Given the description of an element on the screen output the (x, y) to click on. 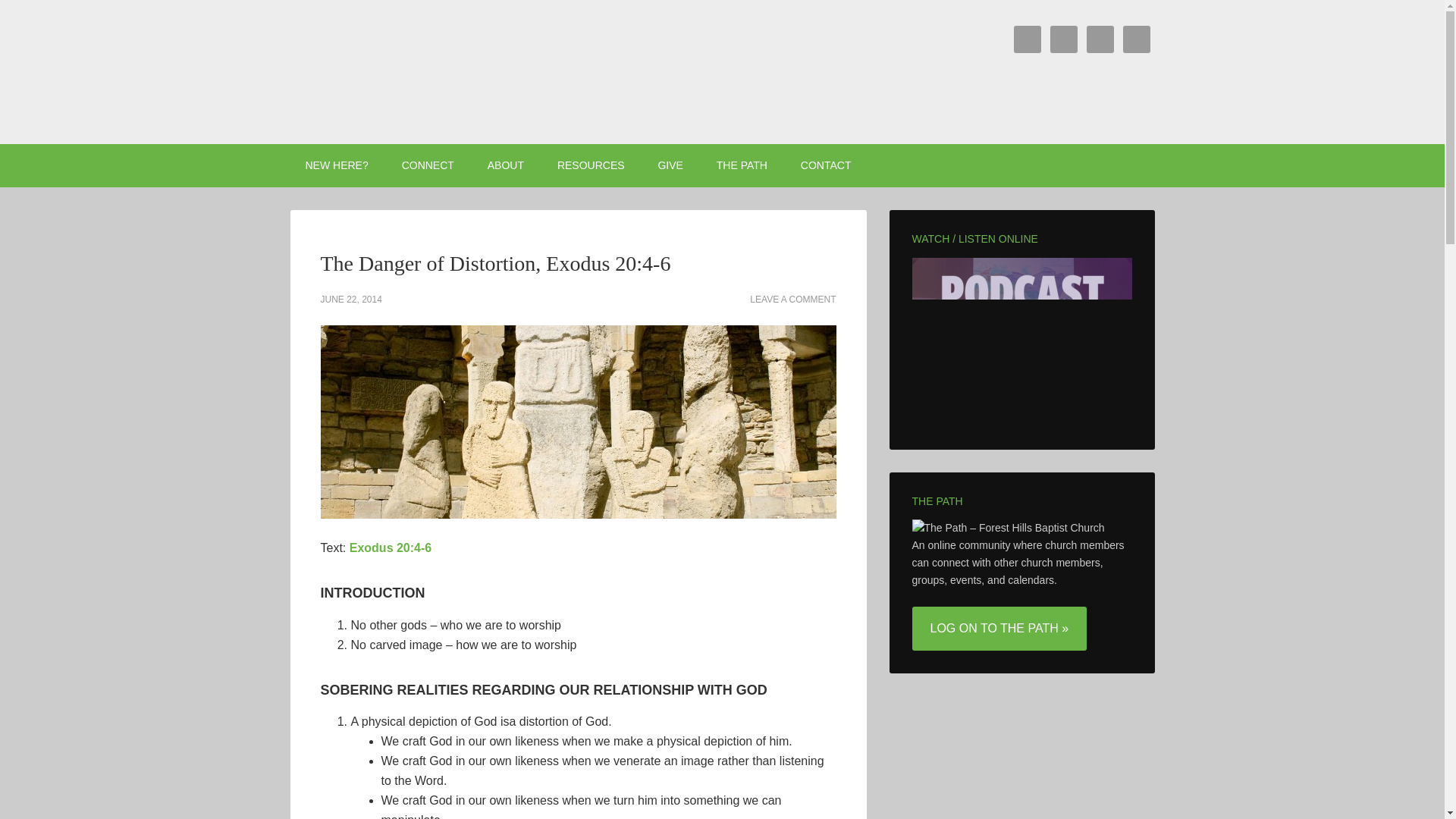
RESOURCES (590, 165)
FOREST HILLS BAPTIST CHURCH (418, 71)
CONTACT (826, 165)
THE PATH (742, 165)
NEW HERE? (335, 165)
GIVE (669, 165)
Exodus 20:4-6 (389, 547)
LEAVE A COMMENT (792, 299)
ABOUT (504, 165)
